Given the description of an element on the screen output the (x, y) to click on. 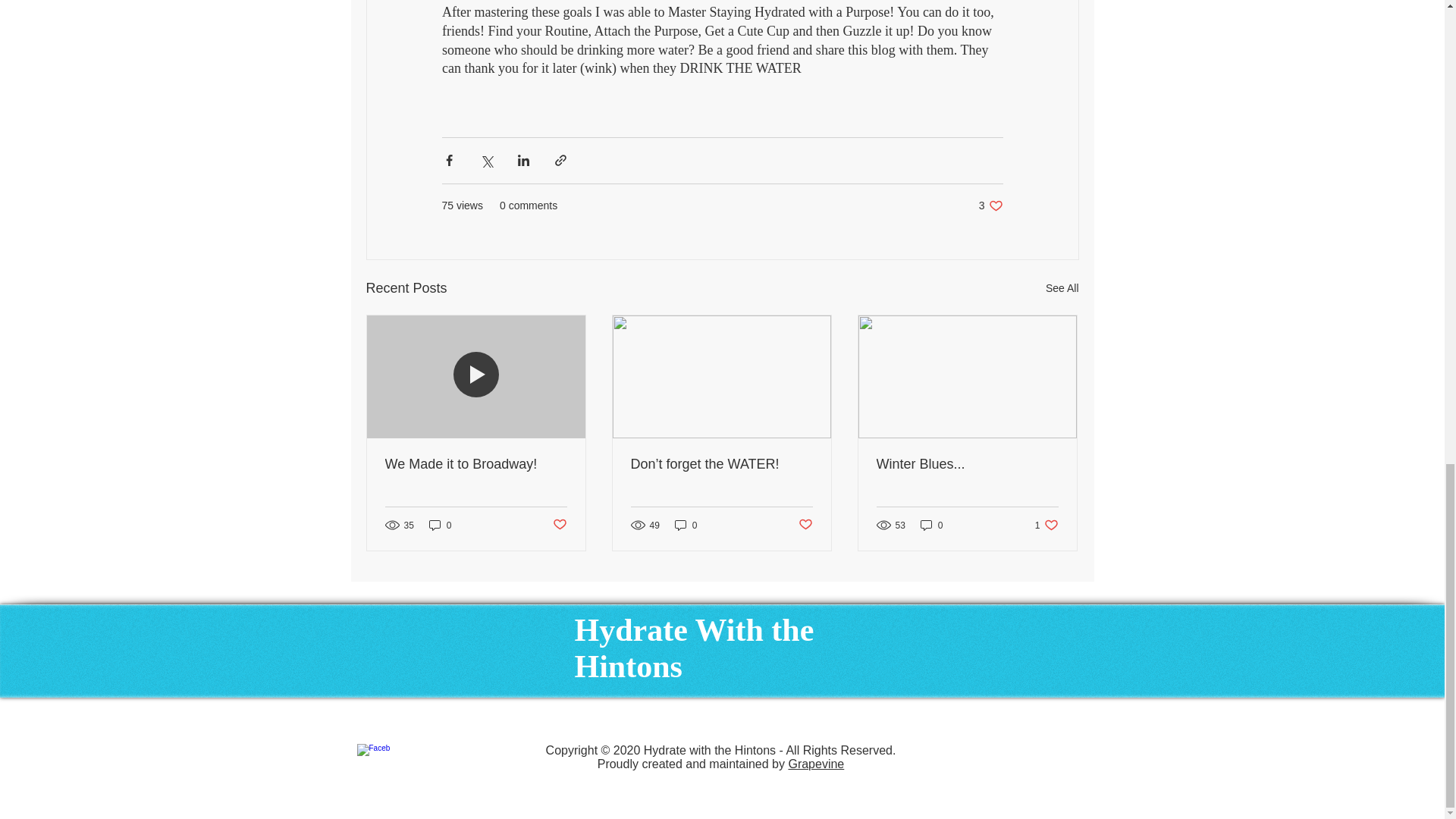
Winter Blues... (967, 464)
See All (1061, 288)
0 (931, 524)
We Made it to Broadway! (476, 464)
0 (440, 524)
Post not marked as liked (558, 524)
Hydrate With the Hintons (694, 647)
Grapevine (815, 763)
0 (685, 524)
